Given the description of an element on the screen output the (x, y) to click on. 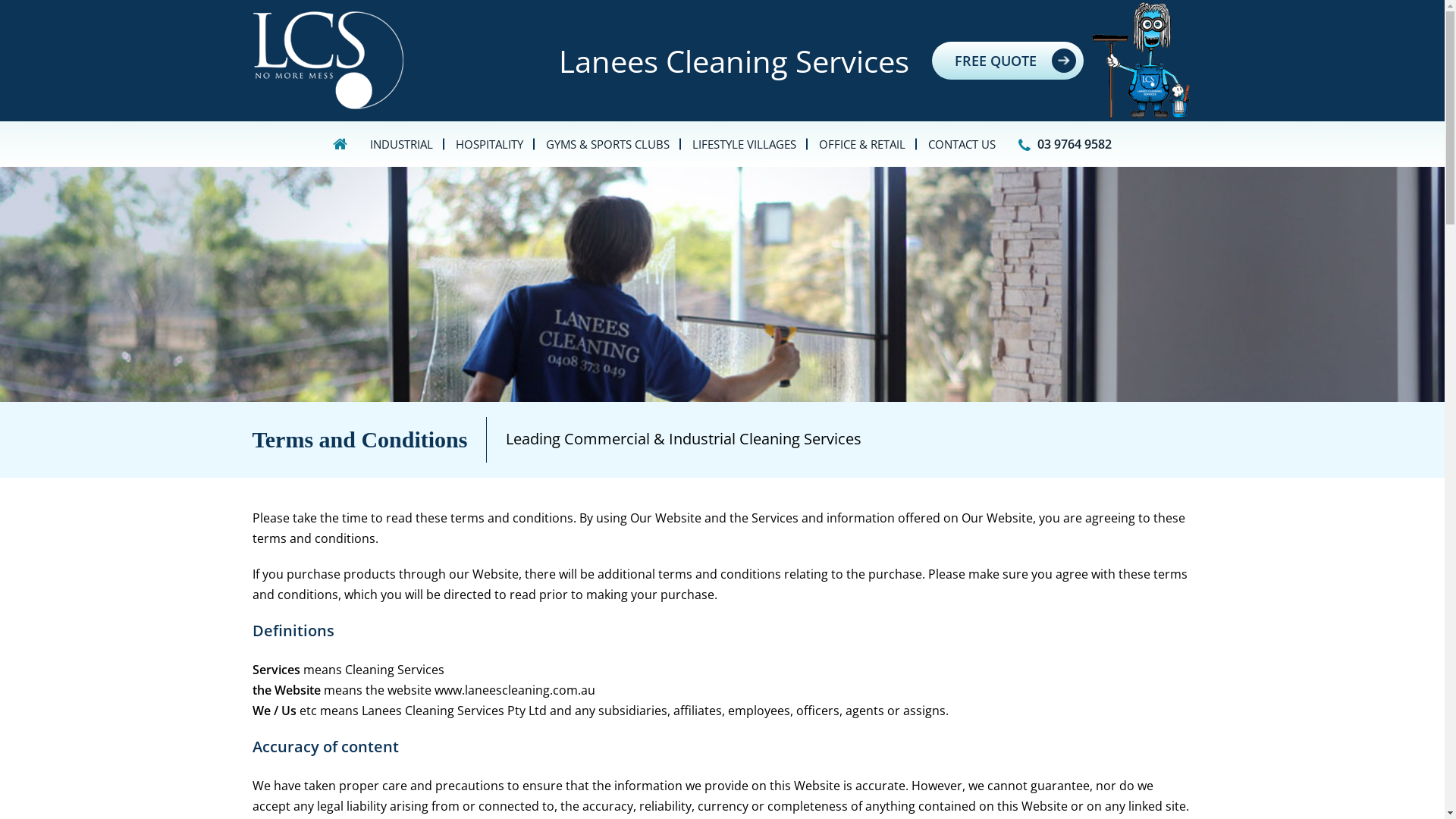
INDUSTRIAL Element type: text (401, 143)
LIFESTYLE VILLAGES Element type: text (744, 143)
OFFICE & RETAIL Element type: text (862, 143)
CONTACT US Element type: text (961, 143)
HOSPITALITY Element type: text (489, 143)
03 9764 9582 Element type: text (1064, 143)
FREE QUOTE Element type: text (1006, 60)
GYMS & SPORTS CLUBS Element type: text (607, 143)
